Given the description of an element on the screen output the (x, y) to click on. 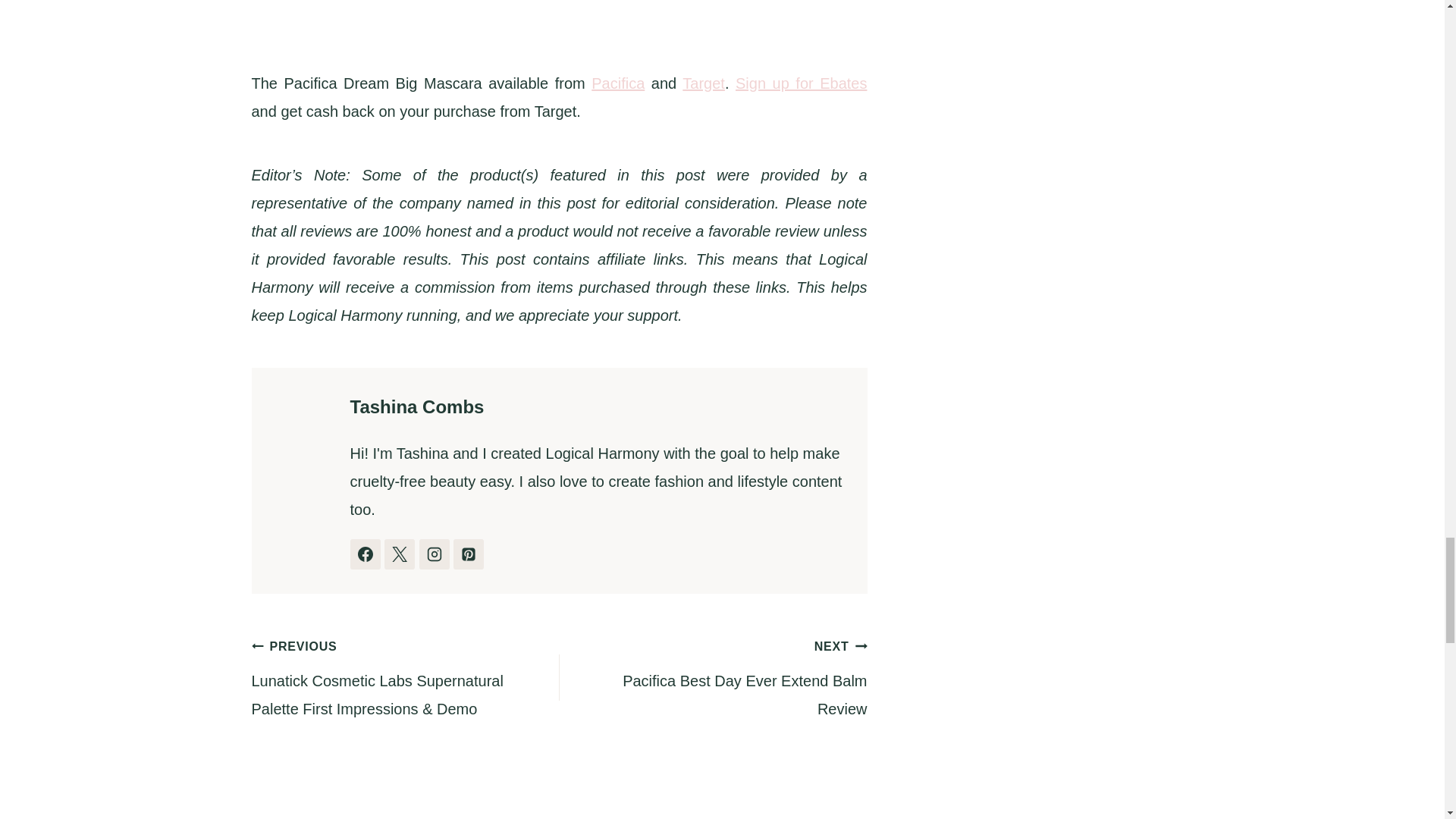
Follow Tashina Combs on Facebook (365, 553)
Follow Tashina Combs on X formerly Twitter (399, 553)
Follow Tashina Combs on Instagram (434, 553)
Follow Tashina Combs on Pinterest (467, 553)
